Given the description of an element on the screen output the (x, y) to click on. 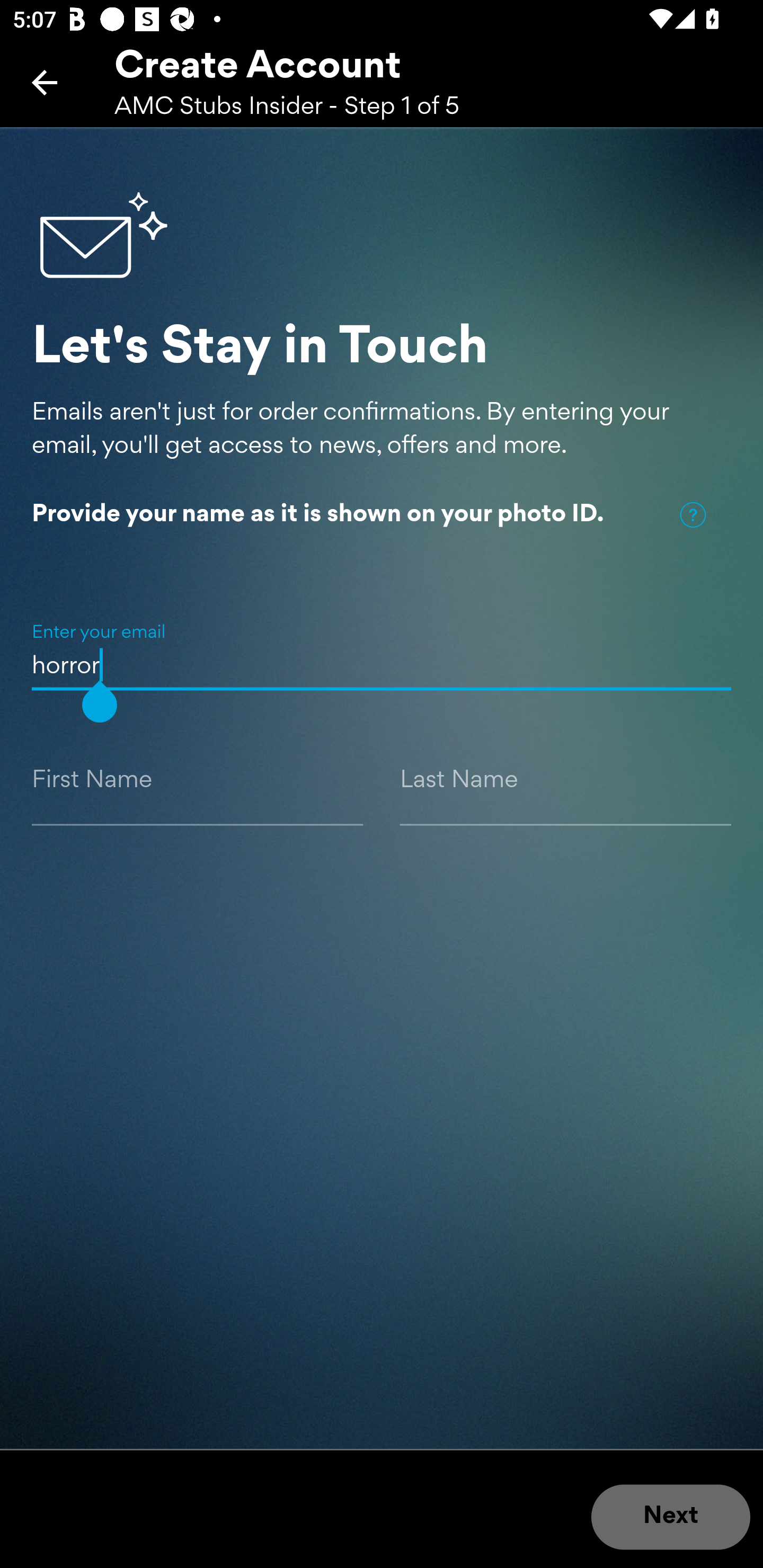
Back (44, 82)
Help (692, 514)
horror (381, 644)
